Given the description of an element on the screen output the (x, y) to click on. 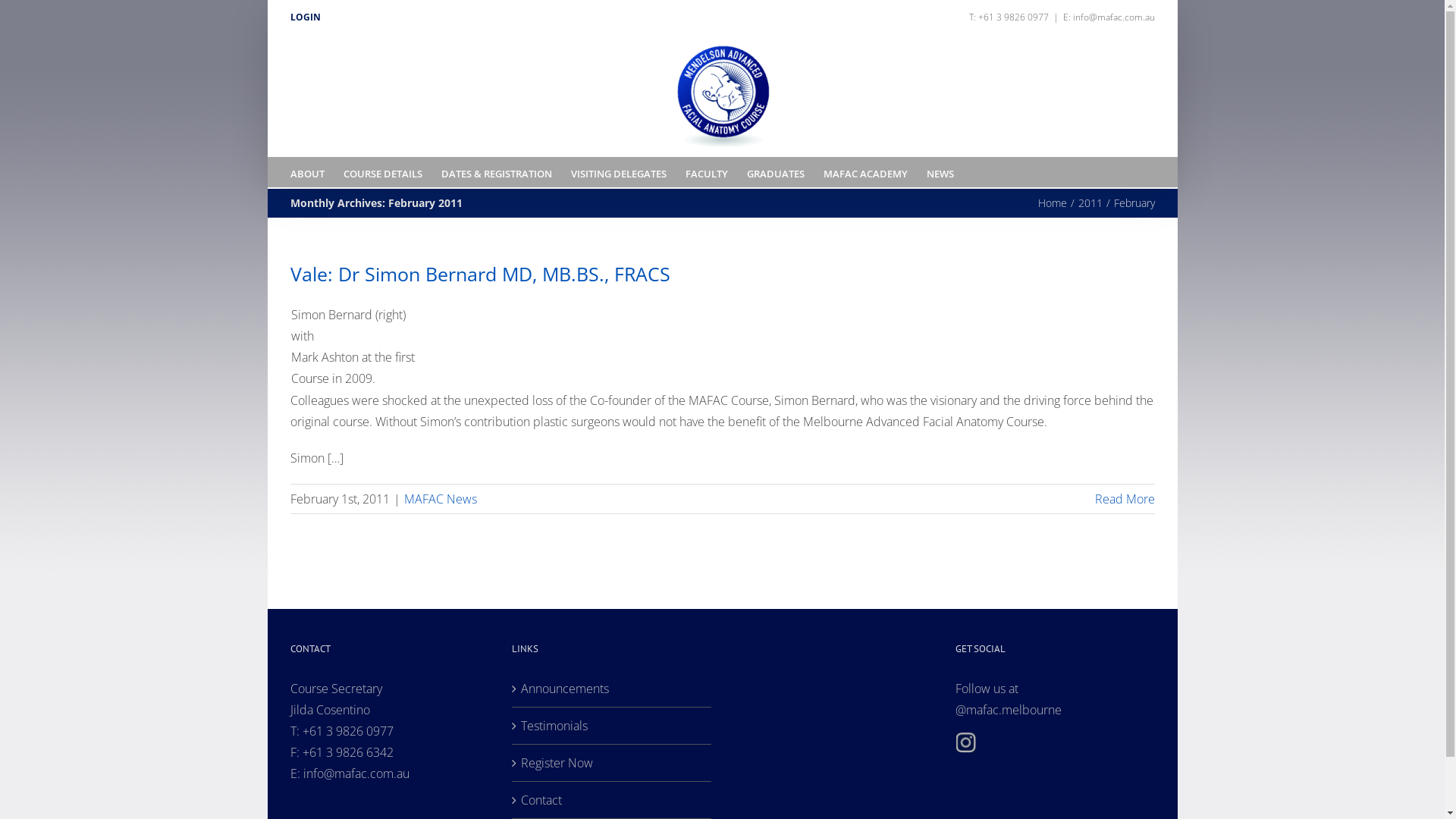
Read More Element type: text (1124, 498)
Vale: Dr Simon Bernard MD, MB.BS., FRACS Element type: text (479, 273)
2011 Element type: text (1090, 202)
DATES & REGISTRATION Element type: text (496, 171)
GRADUATES Element type: text (774, 171)
LOGIN Element type: text (304, 16)
NEWS Element type: text (939, 171)
E: info@mafac.com.au Element type: text (1108, 16)
MAFAC ACADEMY Element type: text (865, 171)
ABOUT Element type: text (306, 171)
COURSE DETAILS Element type: text (381, 171)
FACULTY Element type: text (706, 171)
info@mafac.com.au Element type: text (356, 772)
Testimonials Element type: text (611, 724)
Announcements Element type: text (611, 688)
Contact Element type: text (611, 798)
Register Now Element type: text (611, 762)
Home Element type: text (1051, 202)
MAFAC News Element type: text (439, 498)
VISITING DELEGATES Element type: text (617, 171)
